Given the description of an element on the screen output the (x, y) to click on. 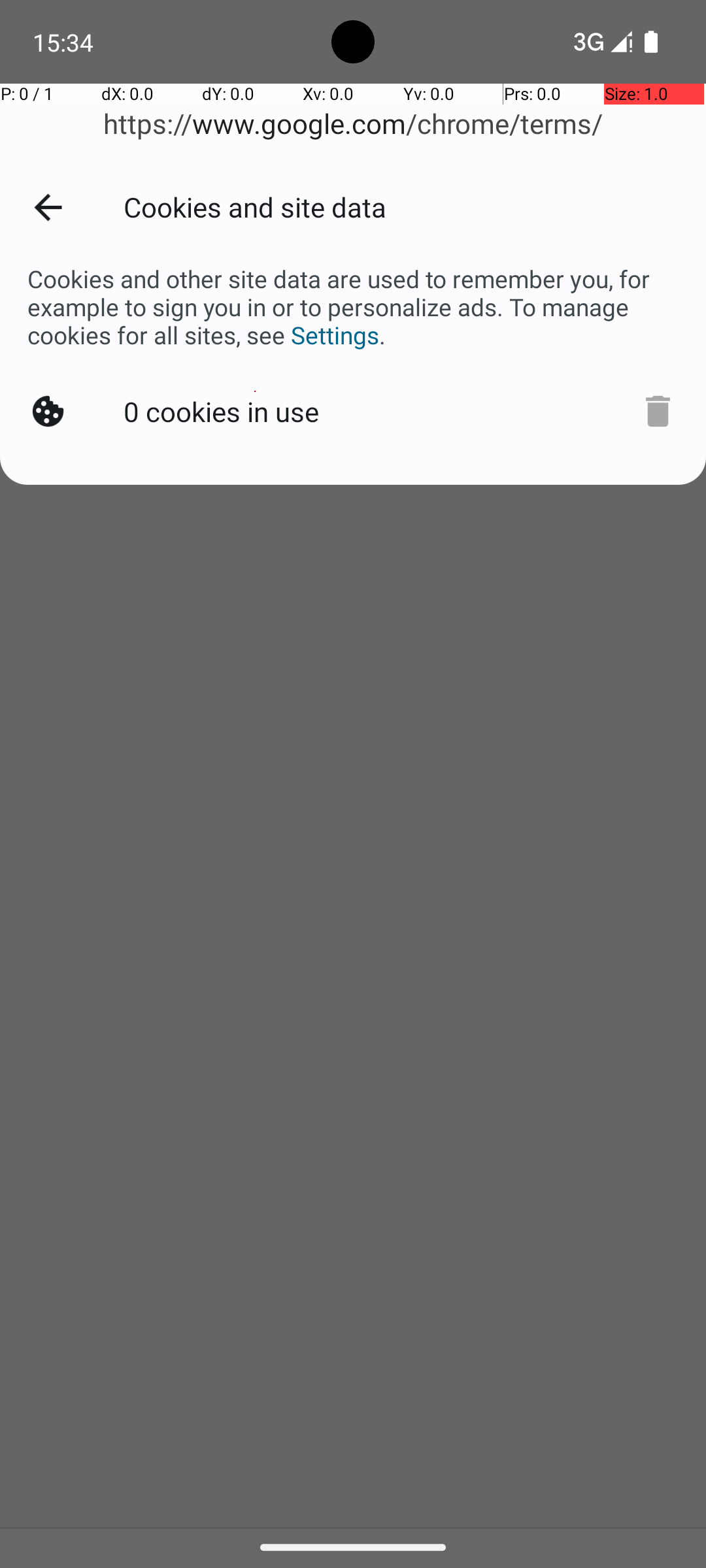
Back Element type: android.widget.ImageButton (56, 209)
Cookies and site data Element type: android.widget.TextView (399, 209)
https://www.google.com/chrome/terms/ Element type: android.widget.TextView (352, 124)
Cookies and other site data are used to remember you, for example to sign you in or to personalize ads. To manage cookies for all sites, see Settings. Element type: android.widget.TextView (352, 306)
0 cookies in use Element type: android.widget.TextView (221, 410)
Delete cookies? Element type: android.widget.ImageView (656, 410)
